Given the description of an element on the screen output the (x, y) to click on. 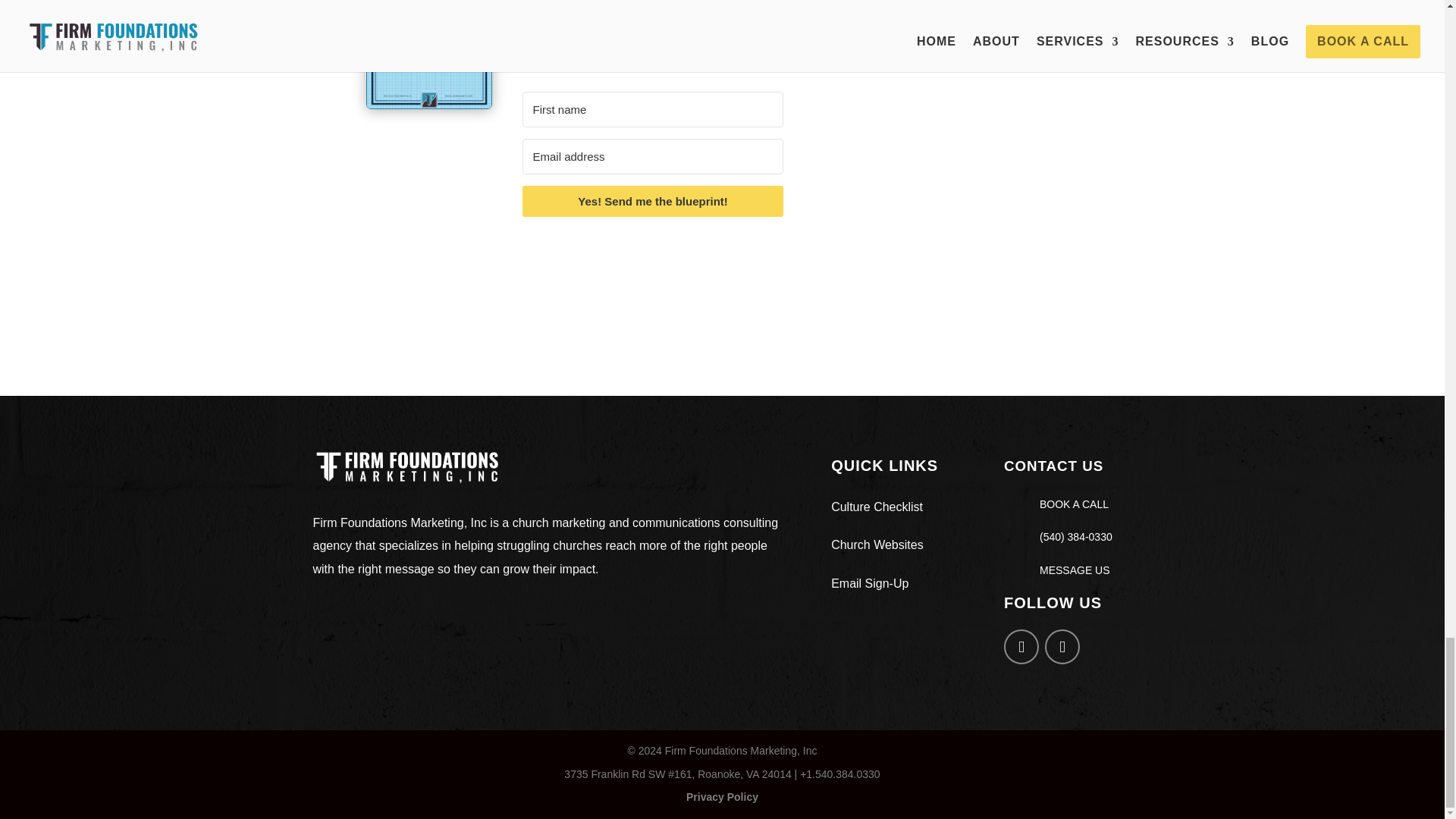
Follow on Facebook (1021, 646)
Follow on Instagram (1062, 646)
